Given the description of an element on the screen output the (x, y) to click on. 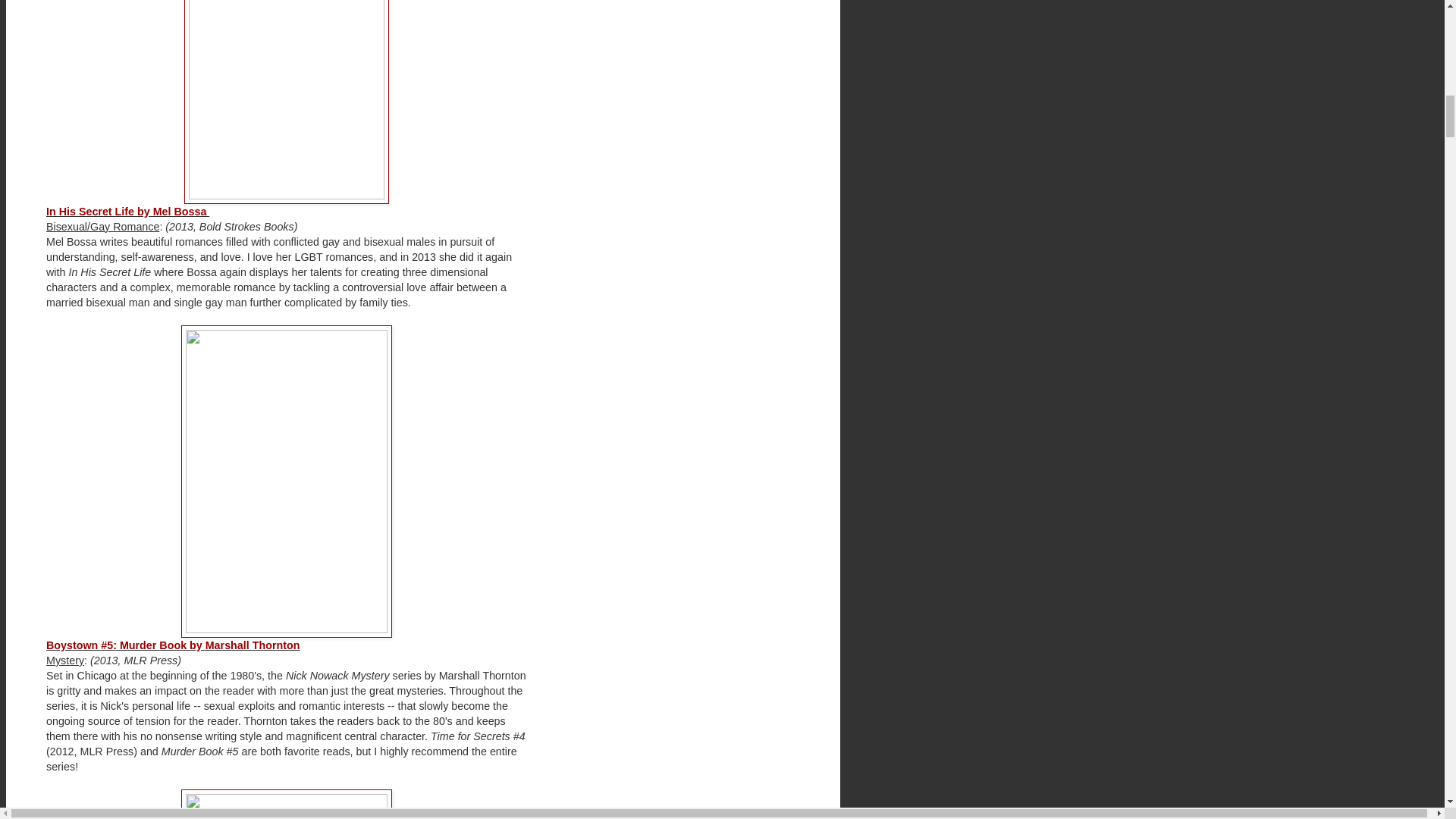
In His Secret Life by Mel Bossa  (127, 211)
